Given the description of an element on the screen output the (x, y) to click on. 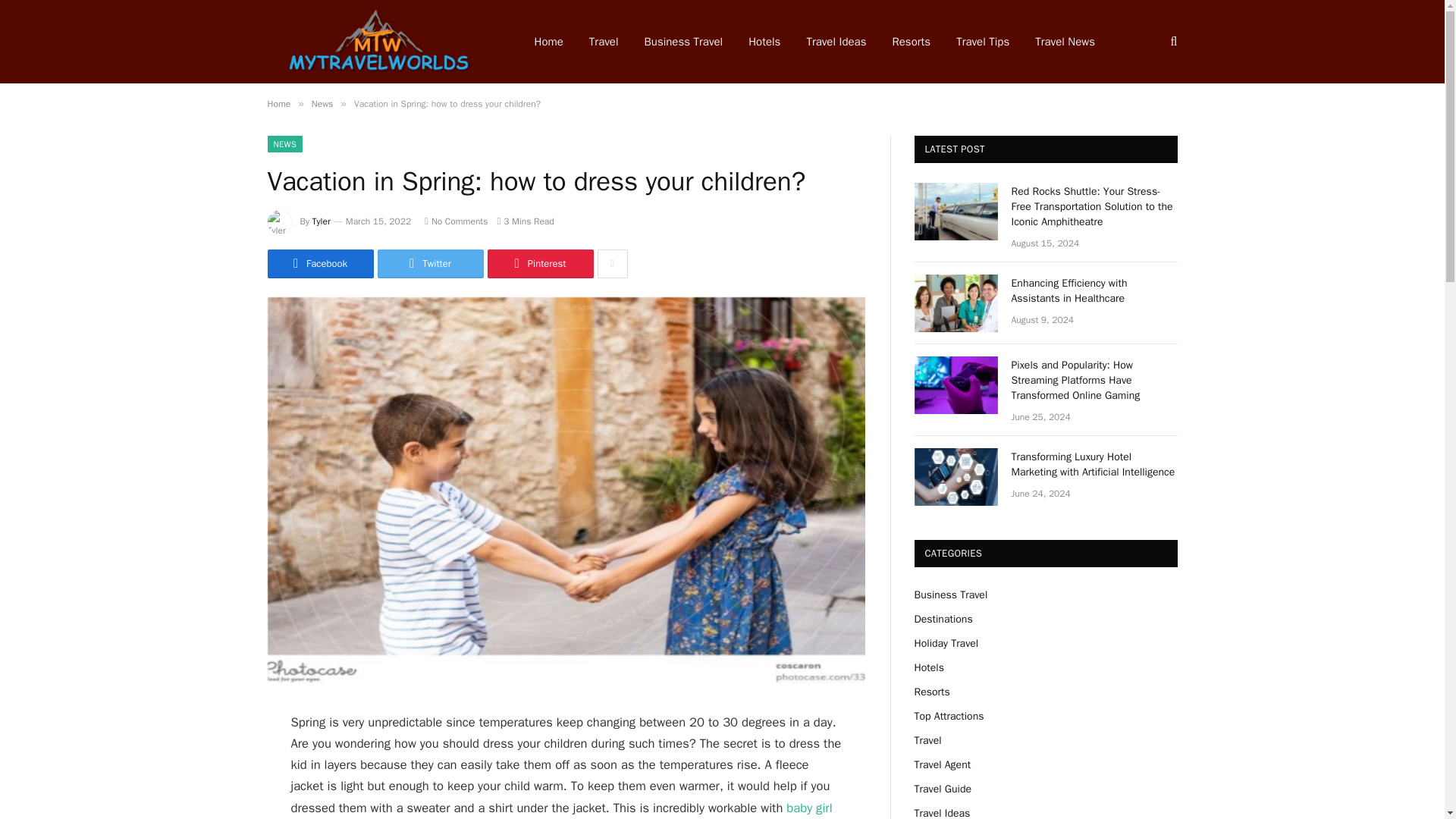
Share on Pinterest (539, 263)
Mytravelworlds (380, 41)
Business Travel (683, 41)
News (322, 103)
Facebook (319, 263)
Travel Tips (982, 41)
Travel Ideas (836, 41)
Pinterest (539, 263)
baby girl clothes (561, 809)
Twitter (430, 263)
